Given the description of an element on the screen output the (x, y) to click on. 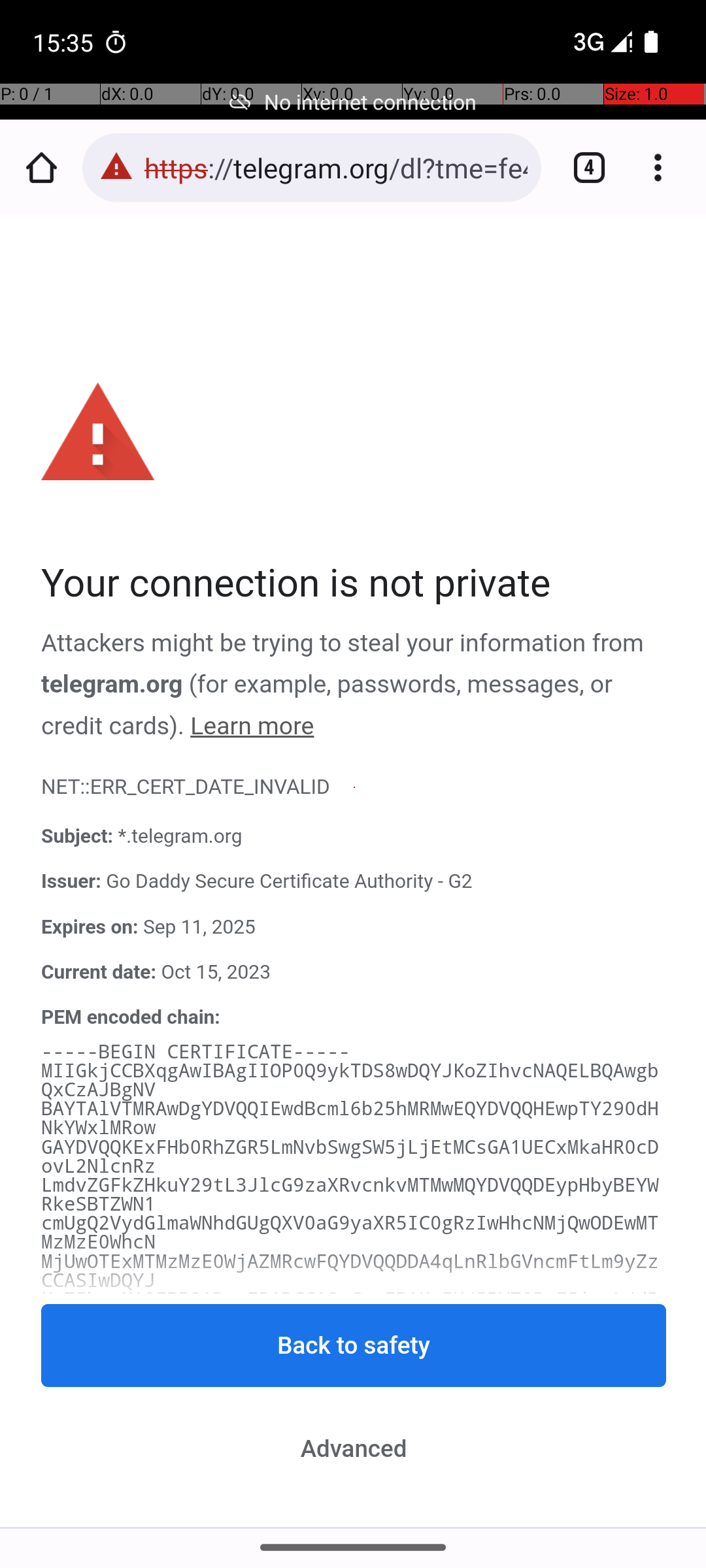
https://telegram.org/dl?tme=fe47b73173689e6e6a_7623181040532428218 Element type: android.widget.EditText (335, 167)
telegram.org Element type: android.widget.TextView (112, 684)
Subject: *.telegram.org Element type: android.widget.TextView (354, 836)
Issuer: Go Daddy Secure Certificate Authority - G2 Element type: android.widget.TextView (354, 882)
Expires on: Sep 11, 2025 Element type: android.widget.TextView (354, 927)
Current date: Oct 15, 2023 Element type: android.widget.TextView (354, 972)
PEM encoded chain: Element type: android.widget.TextView (130, 1016)
-----BEGIN CERTIFICATE----- Element type: android.widget.TextView (196, 1052)
MIIGkjCCBXqgAwIBAgIIOP0Q9ykTDS8wDQYJKoZIhvcNAQELBQAwgbQxCzAJBgNV Element type: android.widget.TextView (349, 1080)
BAYTAlVTMRAwDgYDVQQIEwdBcml6b25hMRMwEQYDVQQHEwpTY290dHNkYWxlMRow Element type: android.widget.TextView (349, 1118)
GAYDVQQKExFHb0RhZGR5LmNvbSwgSW5jLjEtMCsGA1UECxMkaHR0cDovL2NlcnRz Element type: android.widget.TextView (349, 1156)
LmdvZGFkZHkuY29tL3JlcG9zaXRvcnkvMTMwMQYDVQQDEypHbyBEYWRkeSBTZWN1 Element type: android.widget.TextView (349, 1194)
cmUgQ2VydGlmaWNhdGUgQXV0aG9yaXR5IC0gRzIwHhcNMjQwODEwMTMzMzE0WhcN Element type: android.widget.TextView (349, 1232)
MjUwOTExMTMzMzE0WjAZMRcwFQYDVQQDDA4qLnRlbGVncmFtLm9yZzCCASIwDQYJ Element type: android.widget.TextView (349, 1270)
KoZIhvcNAQEBBQADggEPADCCAQoCggEBAKpIH/5PVT0RqF5iuaLJdPSSPQ/Zv4bb Element type: android.widget.TextView (349, 1309)
3vRlAAN99rtR9/diw4JV2QsnVmReHY111XoEjUeKhjuB+ETlh/VGO/NXNPcPn/J2 Element type: android.widget.TextView (349, 1347)
LCtyMvOM1SDkwAJ2RGzN6Tj1Un9QHdtZ5yQqTk34p/dp4TnjkbcFGdZxNt2fXS68 Element type: android.widget.TextView (349, 1385)
FmE0j5KqmO4ygBcwymwzJr10750H9o9E/d2Q5q4/9fHEYSyTLJEbiuSb/3QI3Wq8 Element type: android.widget.TextView (349, 1423)
rjABm/OfINdik3Uo1tcKO3ROEgNEWdP581pBHvqDgCjLfjt6OFDDyrttUHVhIATm Element type: android.widget.TextView (349, 1461)
1EsHIhqG5VUbSbLJlsP3PQAnngqbILMw6DyvfLm2sc9vyQXDyZfYBe0CAwEAAaOC Element type: android.widget.TextView (349, 1499)
A0AwggM8MAwGA1UdEwEB/wQCMAAwHQYDVR0lBBYwFAYIKwYBBQUHAwEGCCsGAQUF Element type: android.widget.TextView (349, 1521)
